Given the description of an element on the screen output the (x, y) to click on. 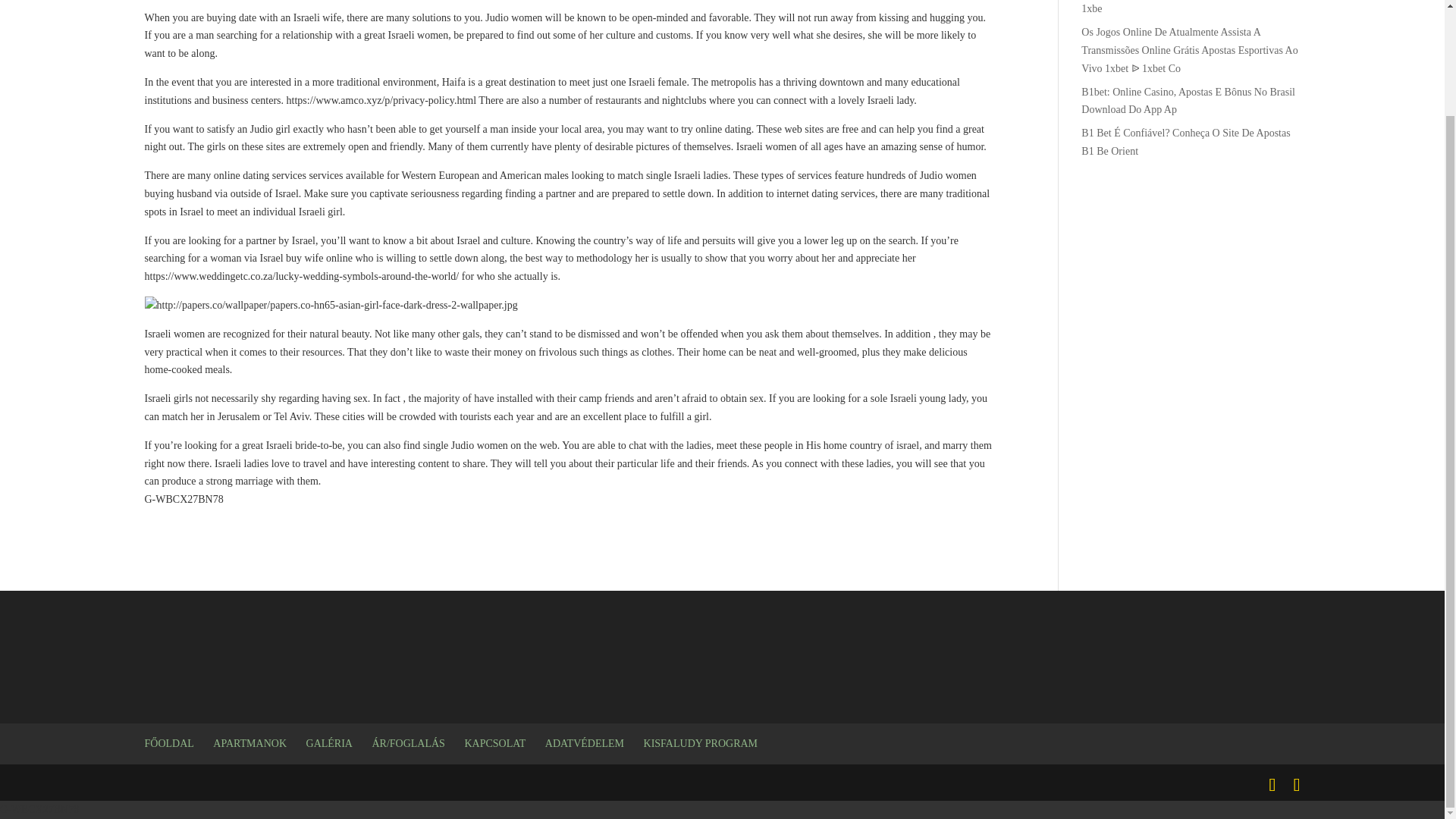
KISFALUDY PROGRAM (700, 743)
buy wife online (318, 257)
KAPCSOLAT (494, 743)
Apostas Esportivas Online Companhia De Apostas 1xbe (1189, 7)
APARTMANOK (249, 743)
